Given the description of an element on the screen output the (x, y) to click on. 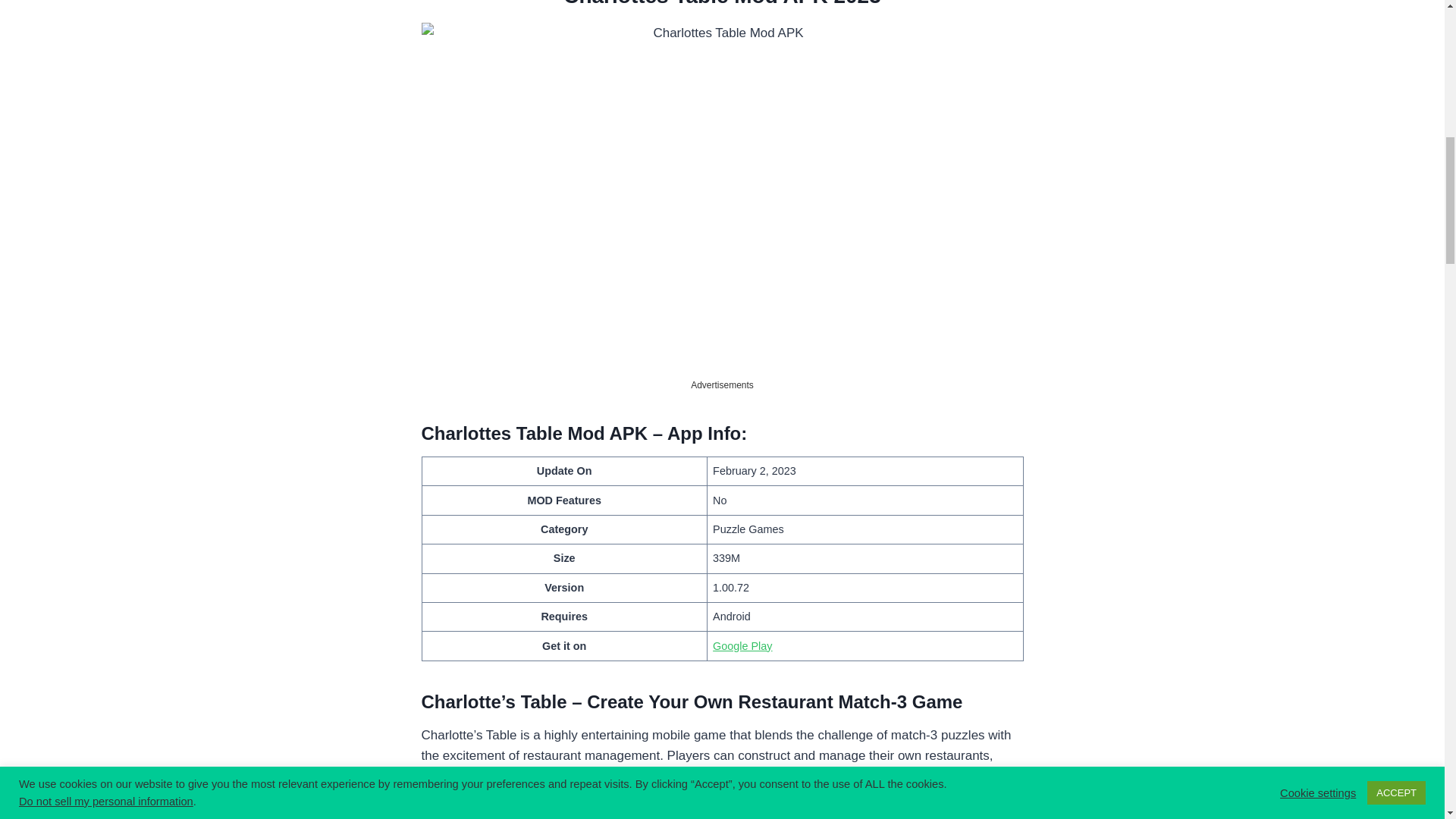
Google Play (742, 645)
